Given the description of an element on the screen output the (x, y) to click on. 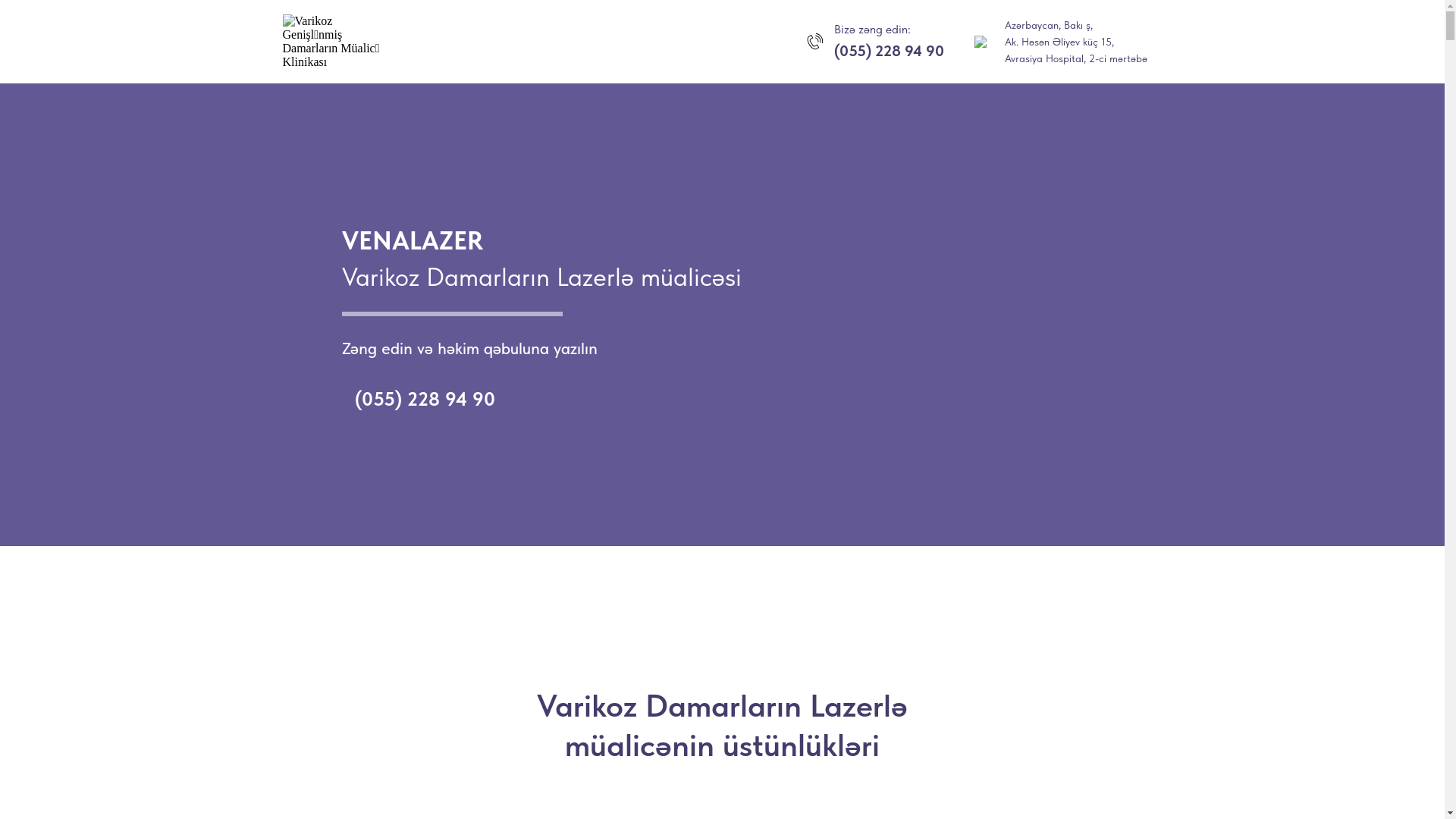
(055) 228 94 90 Element type: text (424, 398)
(055) 228 94 90 Element type: text (889, 50)
